Given the description of an element on the screen output the (x, y) to click on. 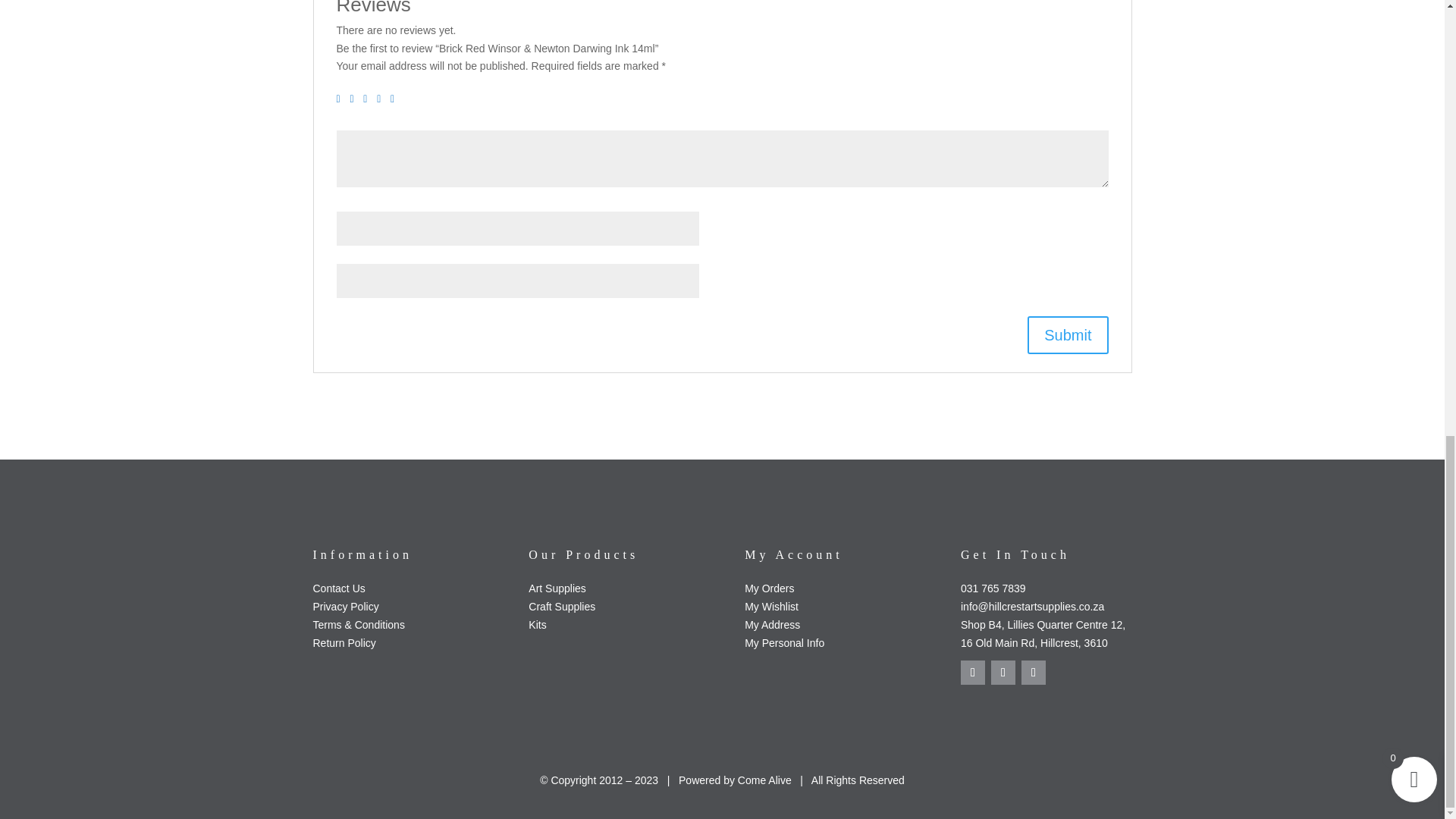
1 (341, 99)
Follow on Pinterest (1033, 672)
2 (354, 99)
Follow on Facebook (972, 672)
Follow on Instagram (1002, 672)
